Given the description of an element on the screen output the (x, y) to click on. 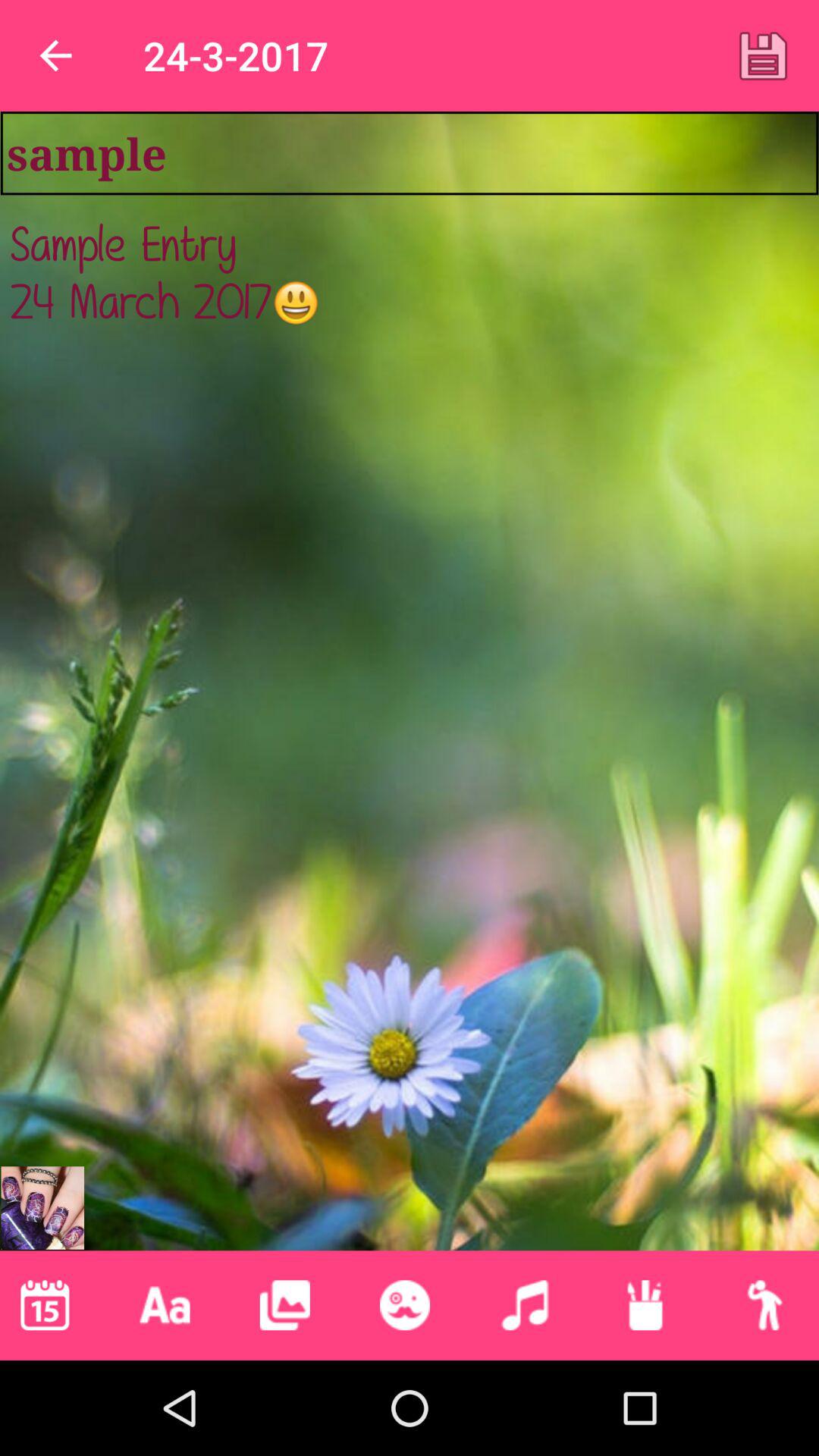
click icon below sample item (409, 689)
